Given the description of an element on the screen output the (x, y) to click on. 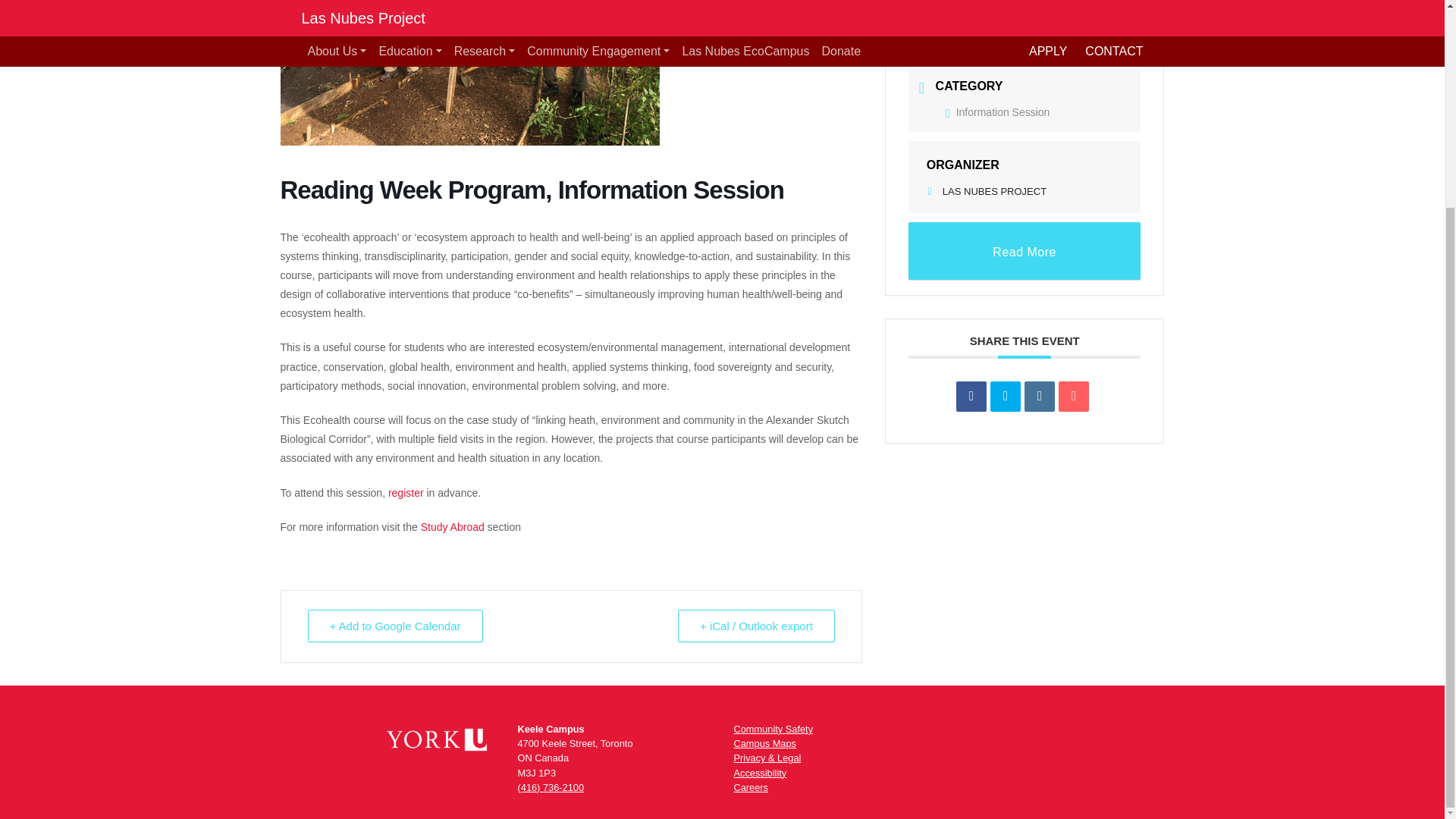
register (405, 492)
Share on Facebook (971, 396)
Study Abroad (452, 526)
Tweet (1005, 396)
Email (1073, 396)
Linkedin (1039, 396)
